Given the description of an element on the screen output the (x, y) to click on. 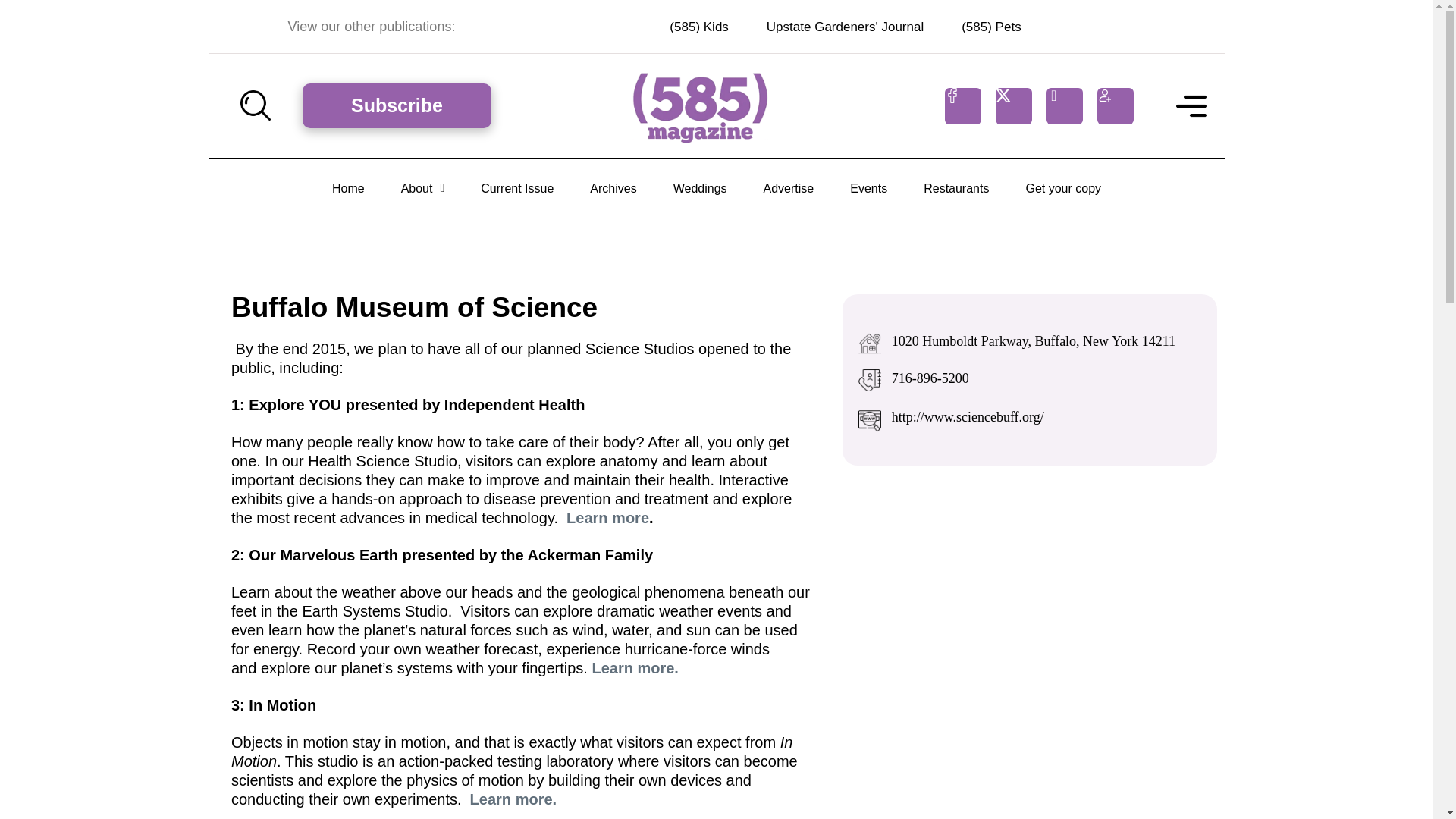
Upstate Gardeners' Journal (845, 26)
